Given the description of an element on the screen output the (x, y) to click on. 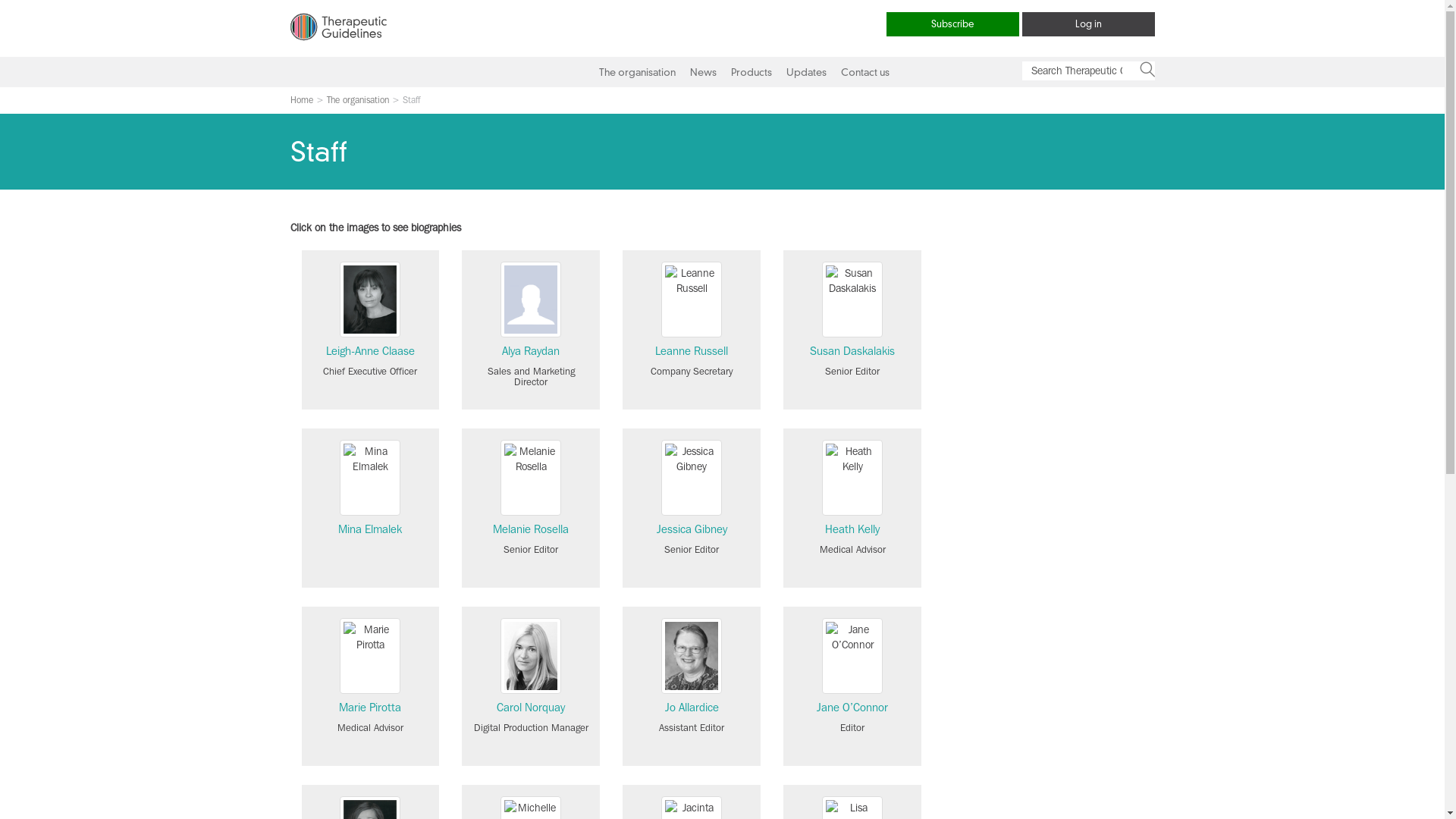
Updates Element type: text (803, 71)
The organisation Element type: text (634, 71)
Therapeutic Guidelines Element type: hover (337, 37)
The organisation Element type: text (357, 99)
Products Element type: text (749, 71)
Contact us Element type: text (862, 71)
Home Element type: text (300, 99)
Log in Element type: text (1088, 24)
News Element type: text (700, 71)
Subscribe Element type: text (951, 24)
